Given the description of an element on the screen output the (x, y) to click on. 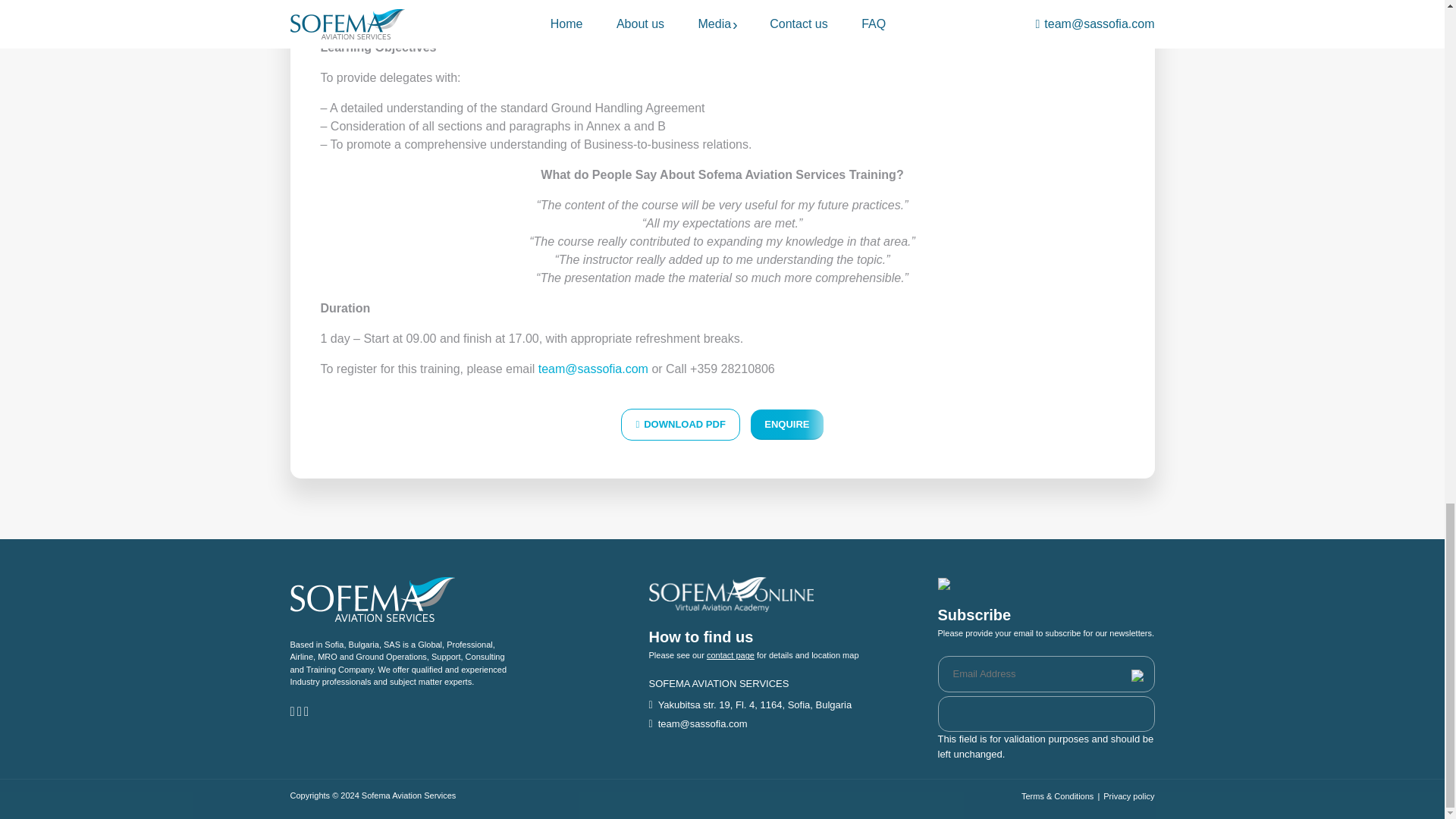
contact page (730, 655)
ENQUIRE (786, 424)
DOWNLOAD PDF (680, 424)
Privacy policy (1128, 796)
